Given the description of an element on the screen output the (x, y) to click on. 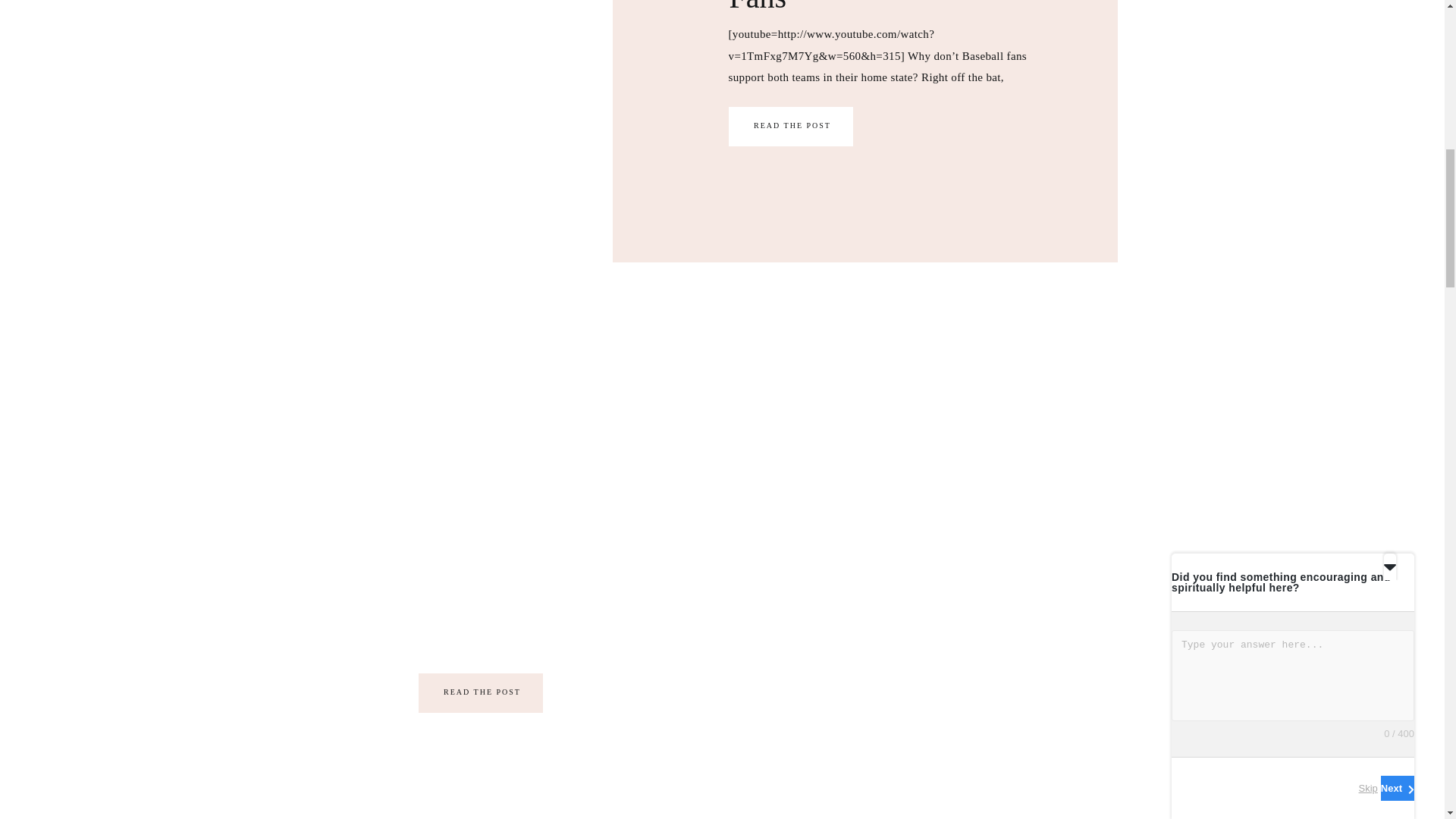
READ THE POST (481, 691)
Dodgers or Giants: The Irrationality of Sports Fans (789, 126)
Dodgers or Giants: The Irrationality of Sports Fans (792, 125)
Dodgers or Giants: The Irrationality of Sports Fans (871, 7)
READ THE POST (792, 125)
Dodgers or Giants: The Irrationality of Sports Fans (504, 124)
